Given the description of an element on the screen output the (x, y) to click on. 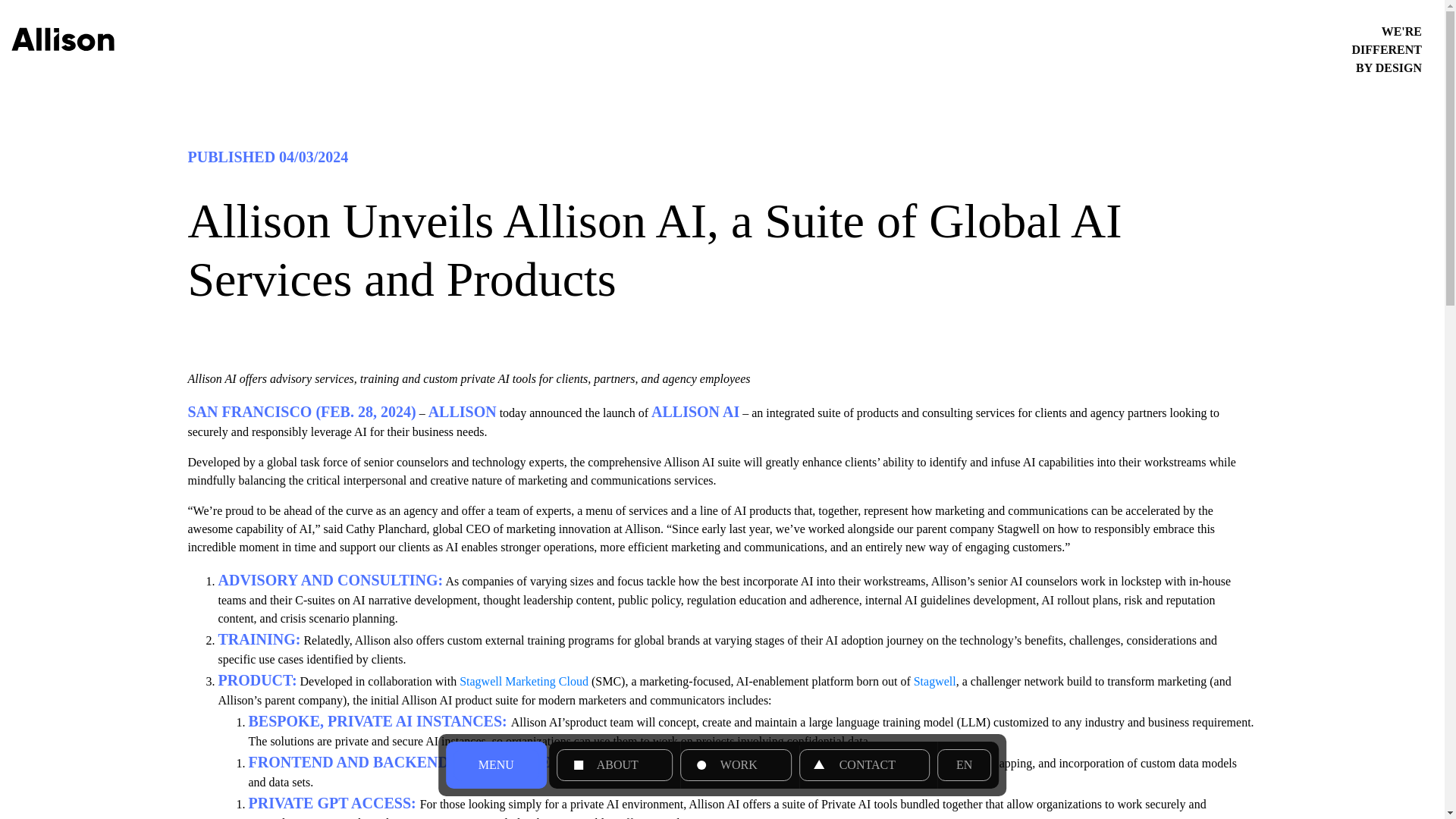
Stagwell (935, 680)
ABOUT (614, 765)
WORK (735, 765)
EN (964, 765)
Stagwell Marketing Cloud (524, 680)
ALLISON (462, 412)
MENU (495, 765)
Menu (495, 765)
CONTACT (864, 765)
